Given the description of an element on the screen output the (x, y) to click on. 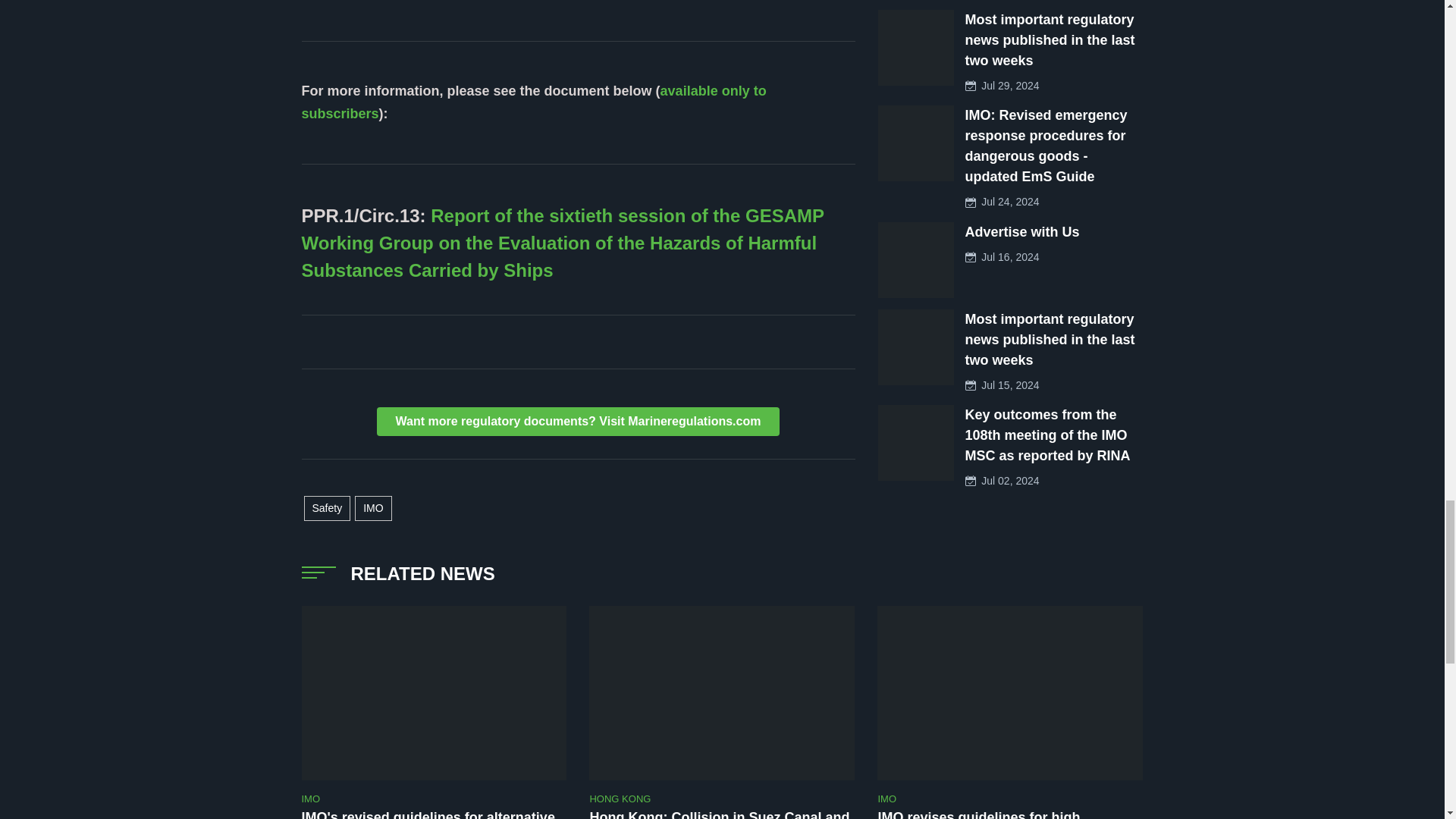
IMO (373, 508)
Safety (326, 508)
Want more regulatory documents? Visit Marineregulations.com (578, 421)
available only to subscribers (534, 102)
